Given the description of an element on the screen output the (x, y) to click on. 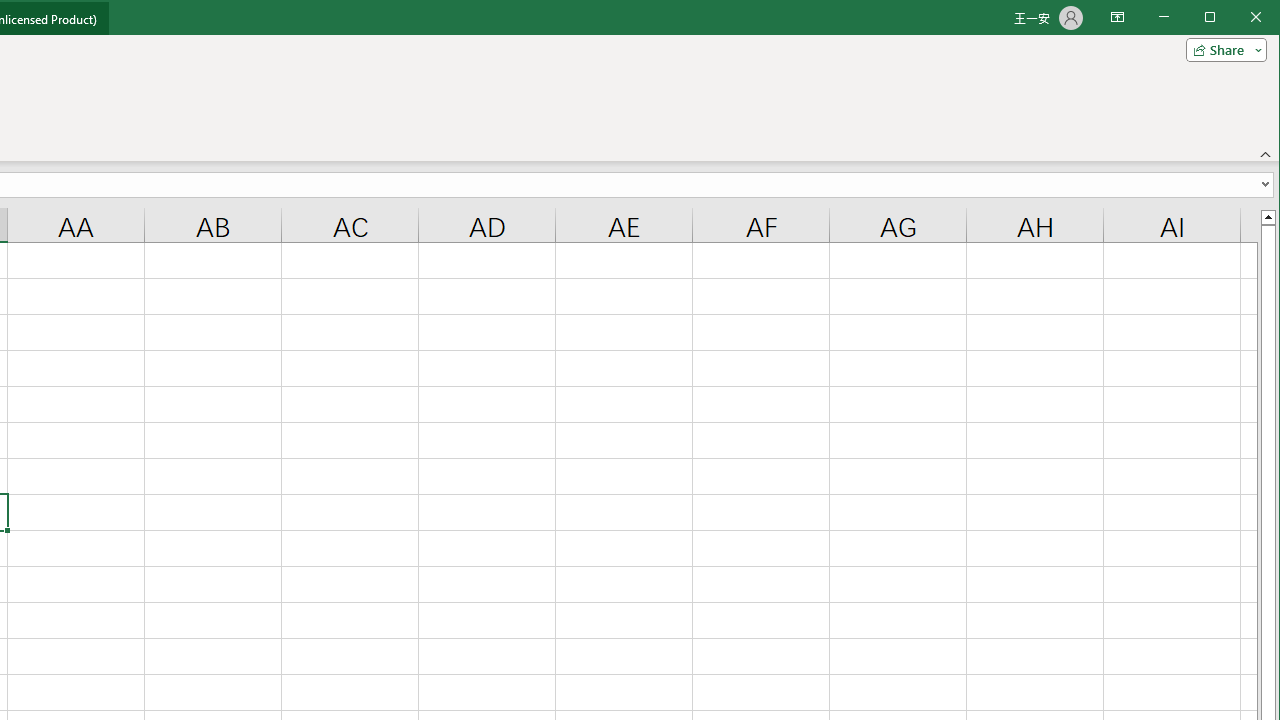
Maximize (1238, 18)
